Given the description of an element on the screen output the (x, y) to click on. 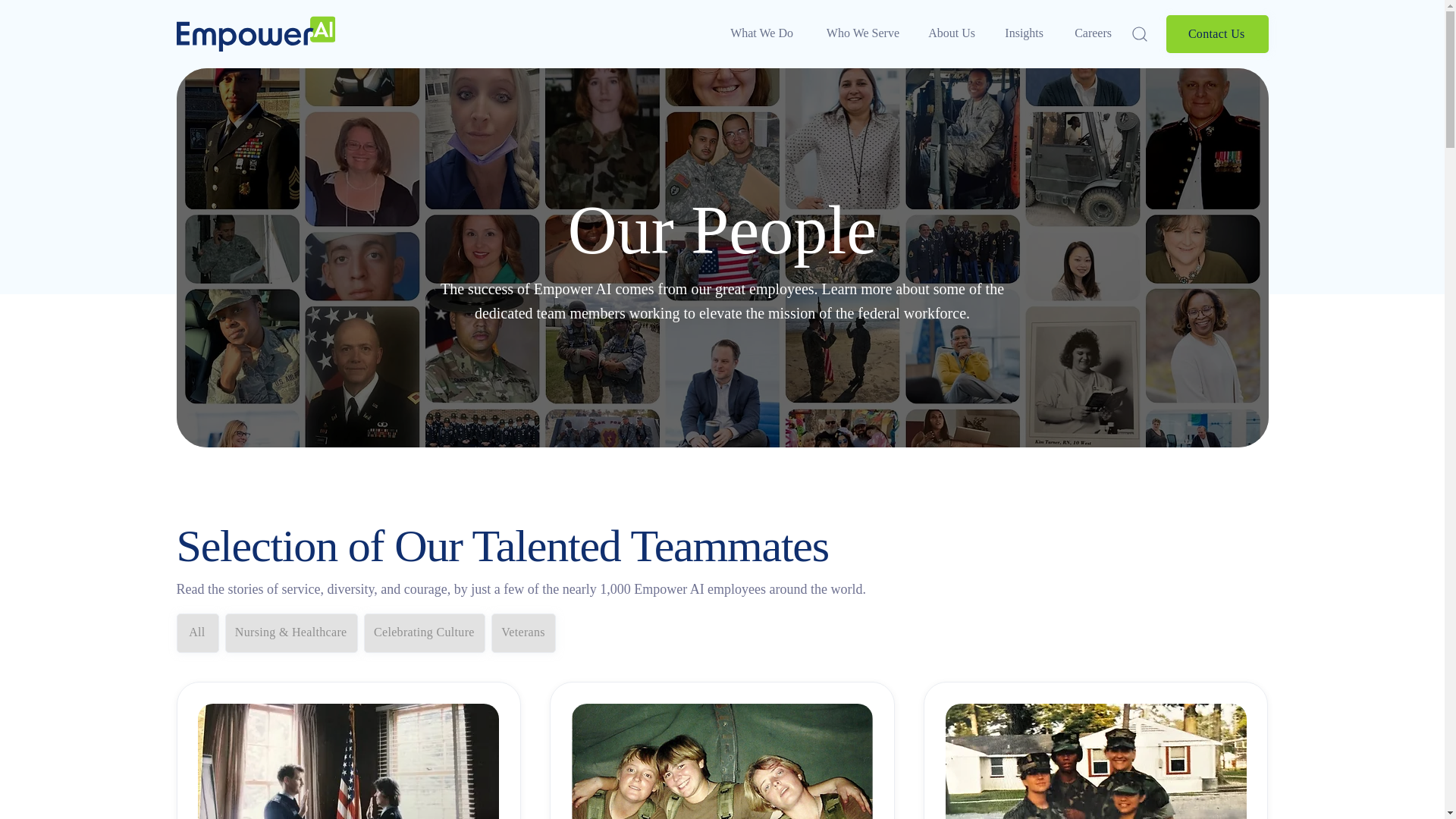
Who We Serve (855, 33)
Insights (1018, 33)
About Us (946, 33)
Contact Us (1217, 34)
Careers (1087, 33)
What We Do (757, 33)
